Given the description of an element on the screen output the (x, y) to click on. 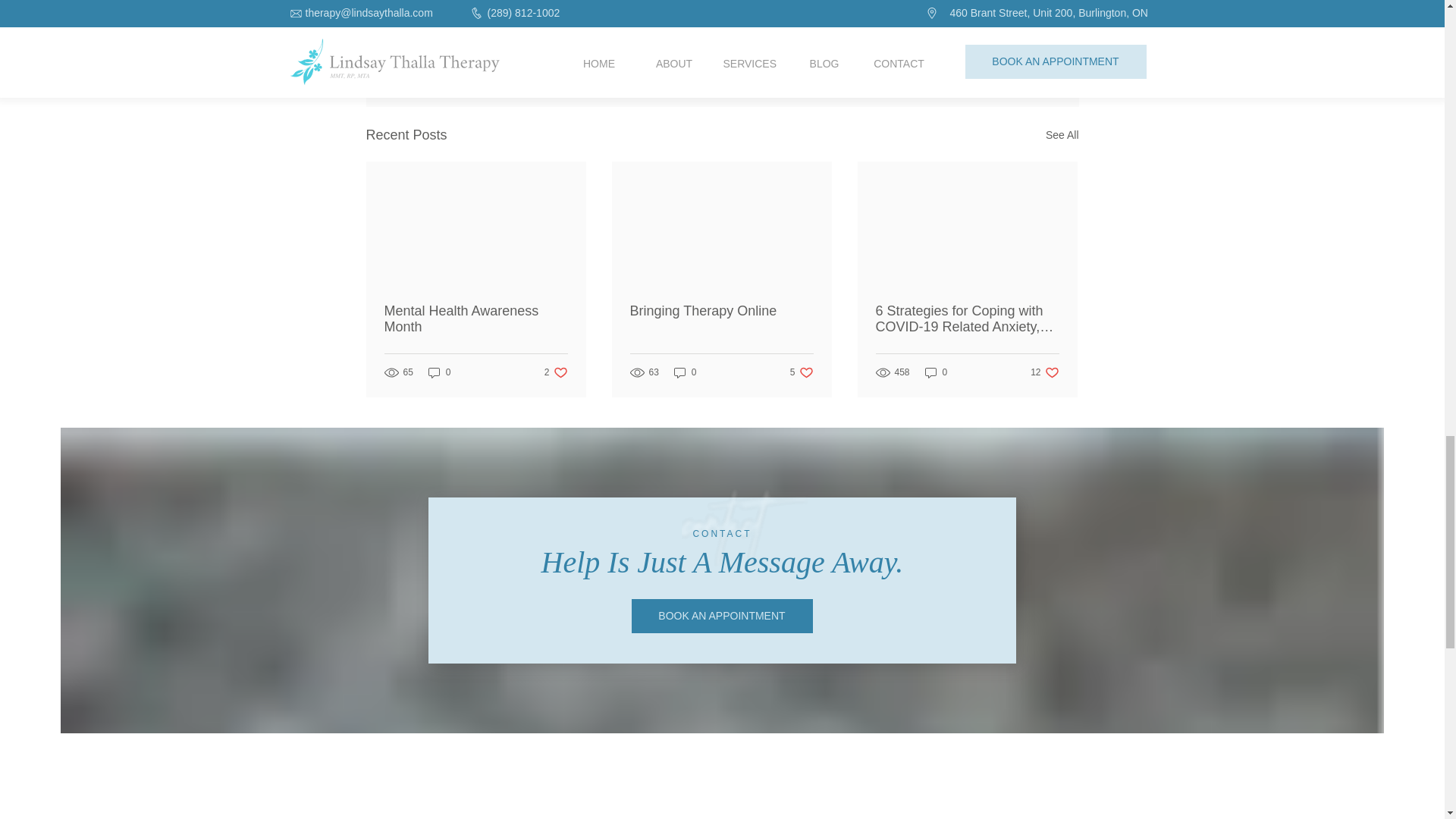
See All (1061, 135)
Bringing Therapy Online (720, 311)
0 (1044, 372)
Mental Health Awareness Month (685, 372)
0 (475, 318)
0 (555, 372)
BOOK AN APPOINTMENT (439, 372)
